Given the description of an element on the screen output the (x, y) to click on. 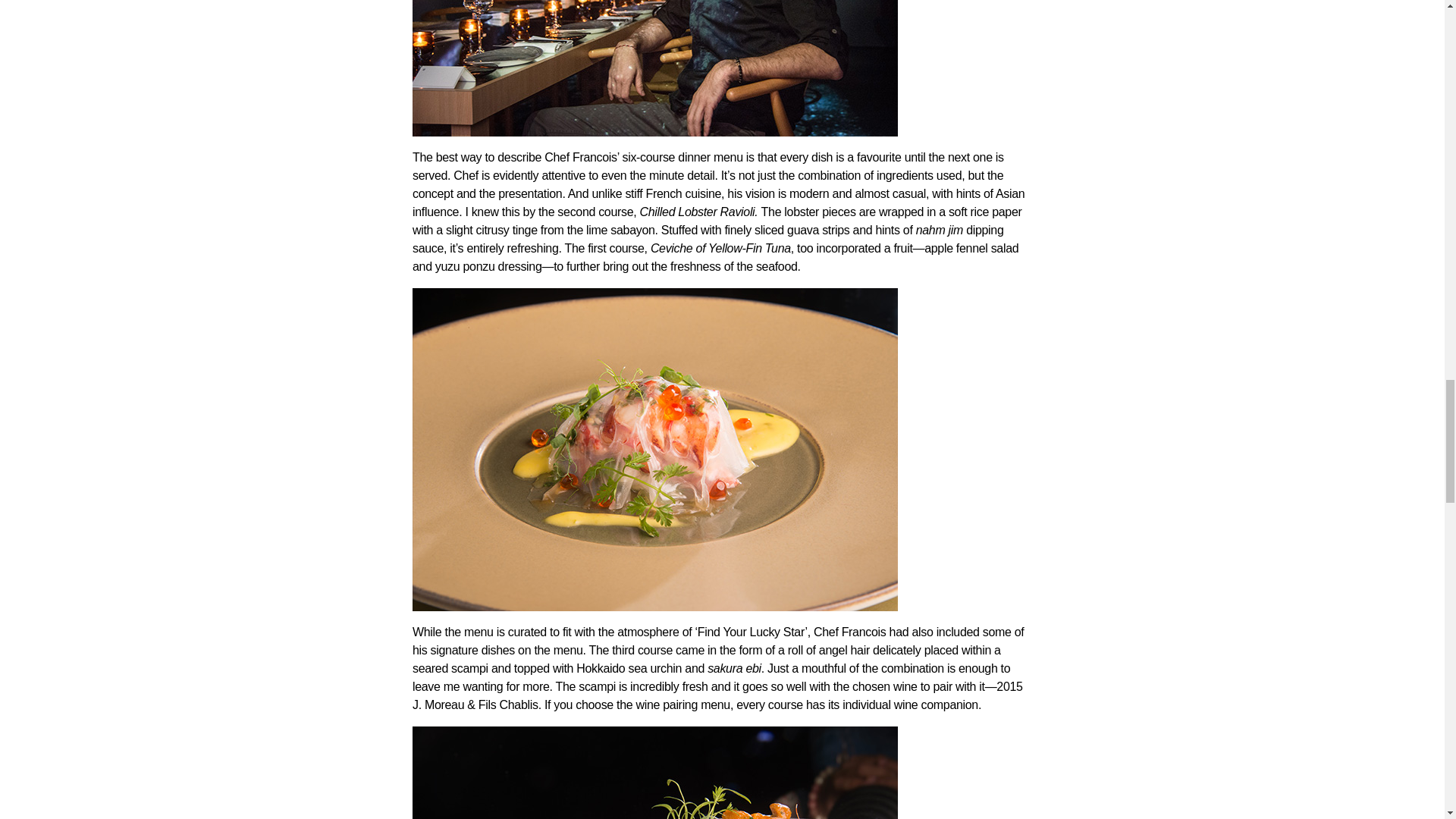
Seared Scampi, Angel Hair (655, 772)
